Given the description of an element on the screen output the (x, y) to click on. 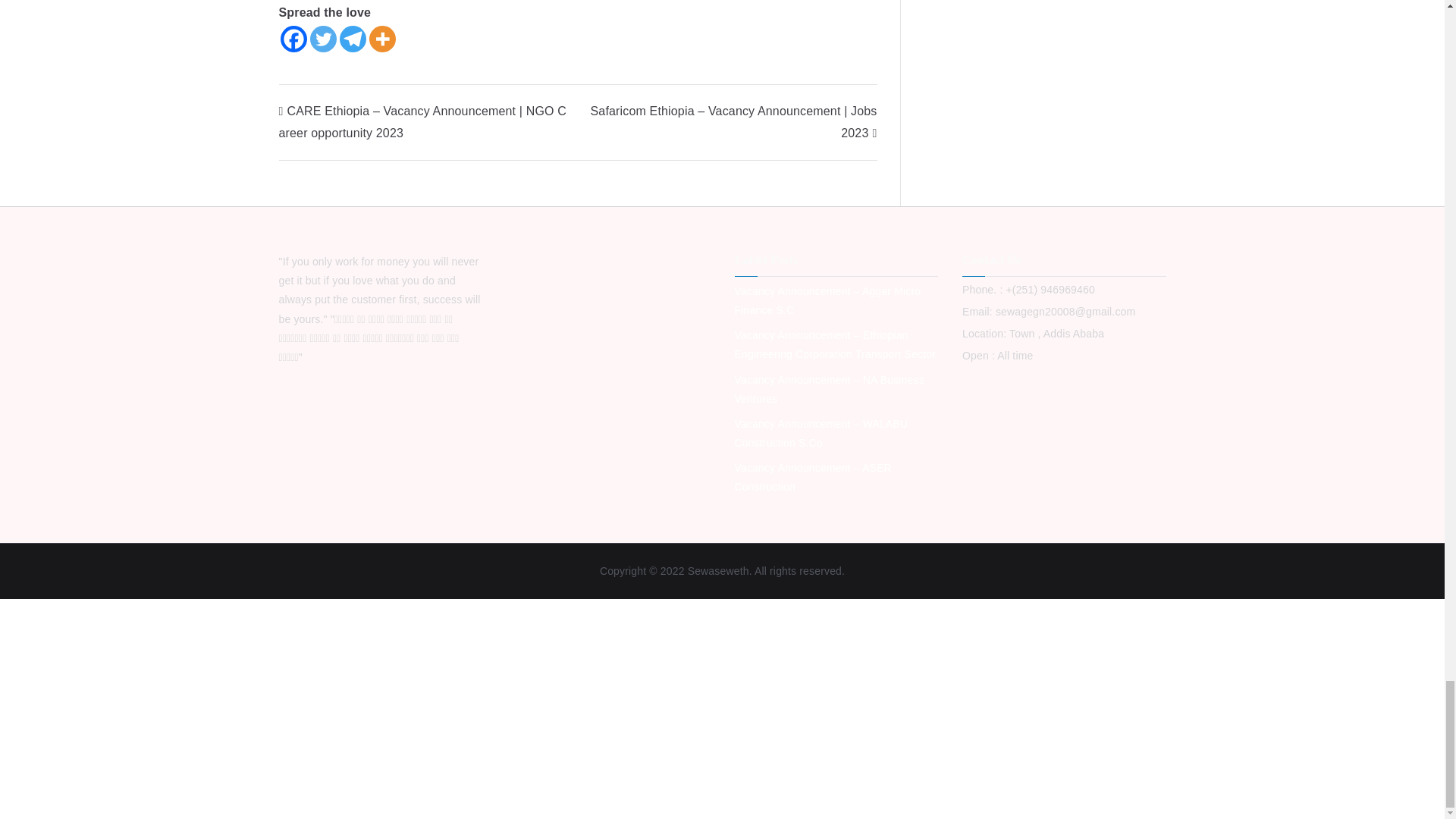
Facebook (294, 38)
More (381, 38)
Twitter (322, 38)
Telegram (352, 38)
